Given the description of an element on the screen output the (x, y) to click on. 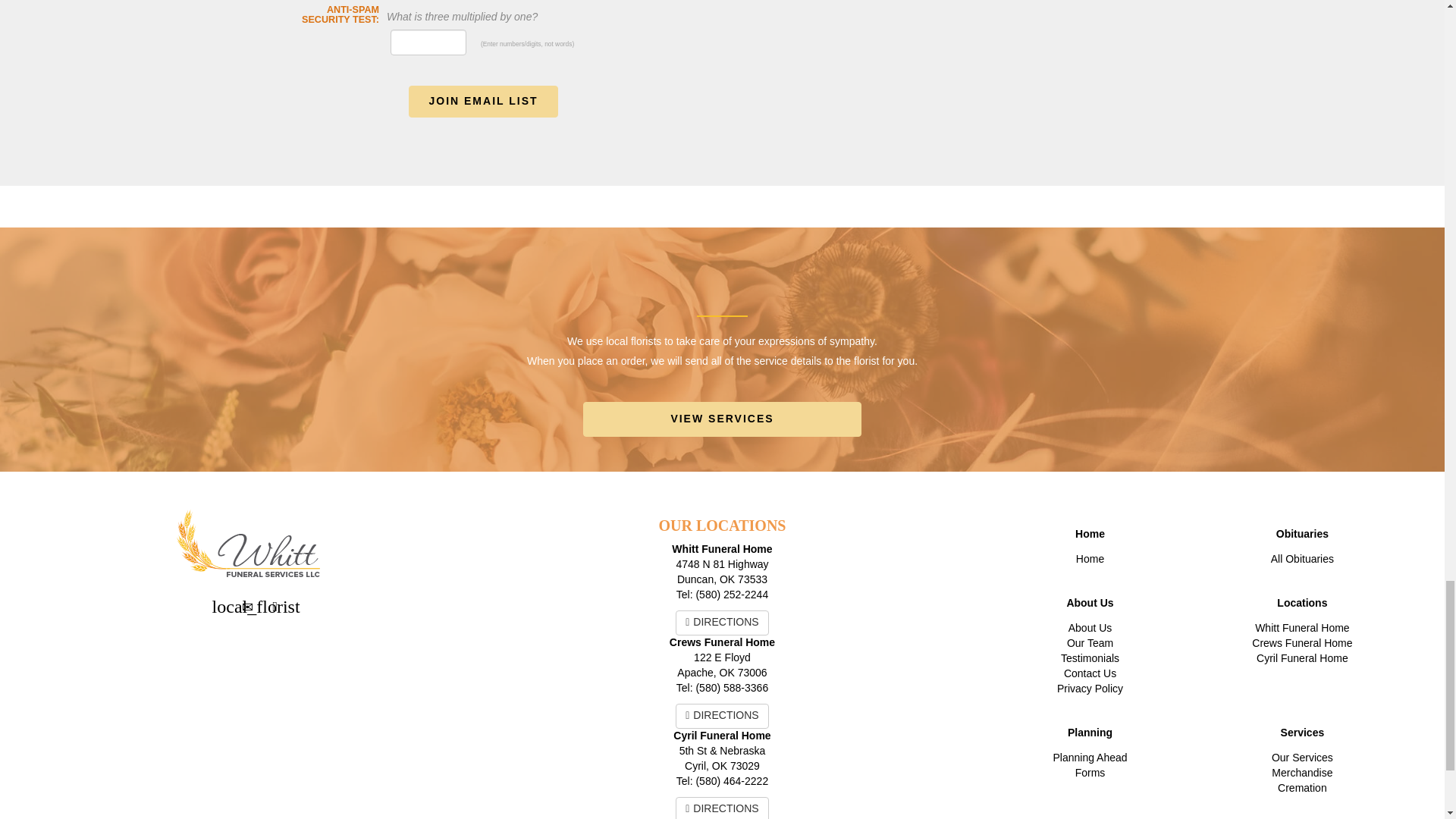
Directions (274, 605)
Contact Us (247, 605)
Send Flowers (220, 605)
